Given the description of an element on the screen output the (x, y) to click on. 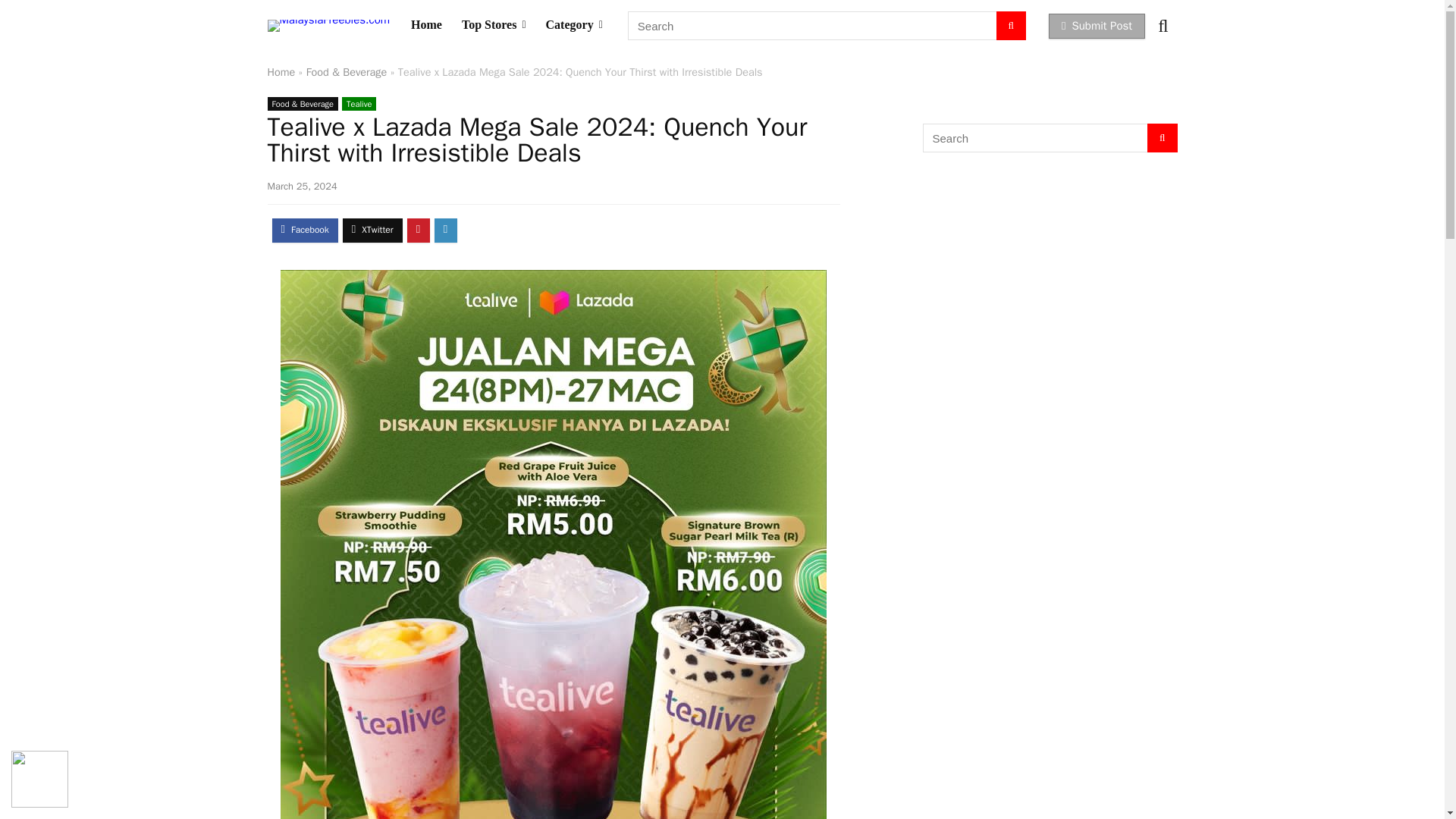
Category (573, 25)
Home (426, 25)
Home (280, 71)
Top Stores (493, 25)
Tealive (358, 103)
Submit Post (1096, 25)
View all posts in Tealive (358, 103)
